Given the description of an element on the screen output the (x, y) to click on. 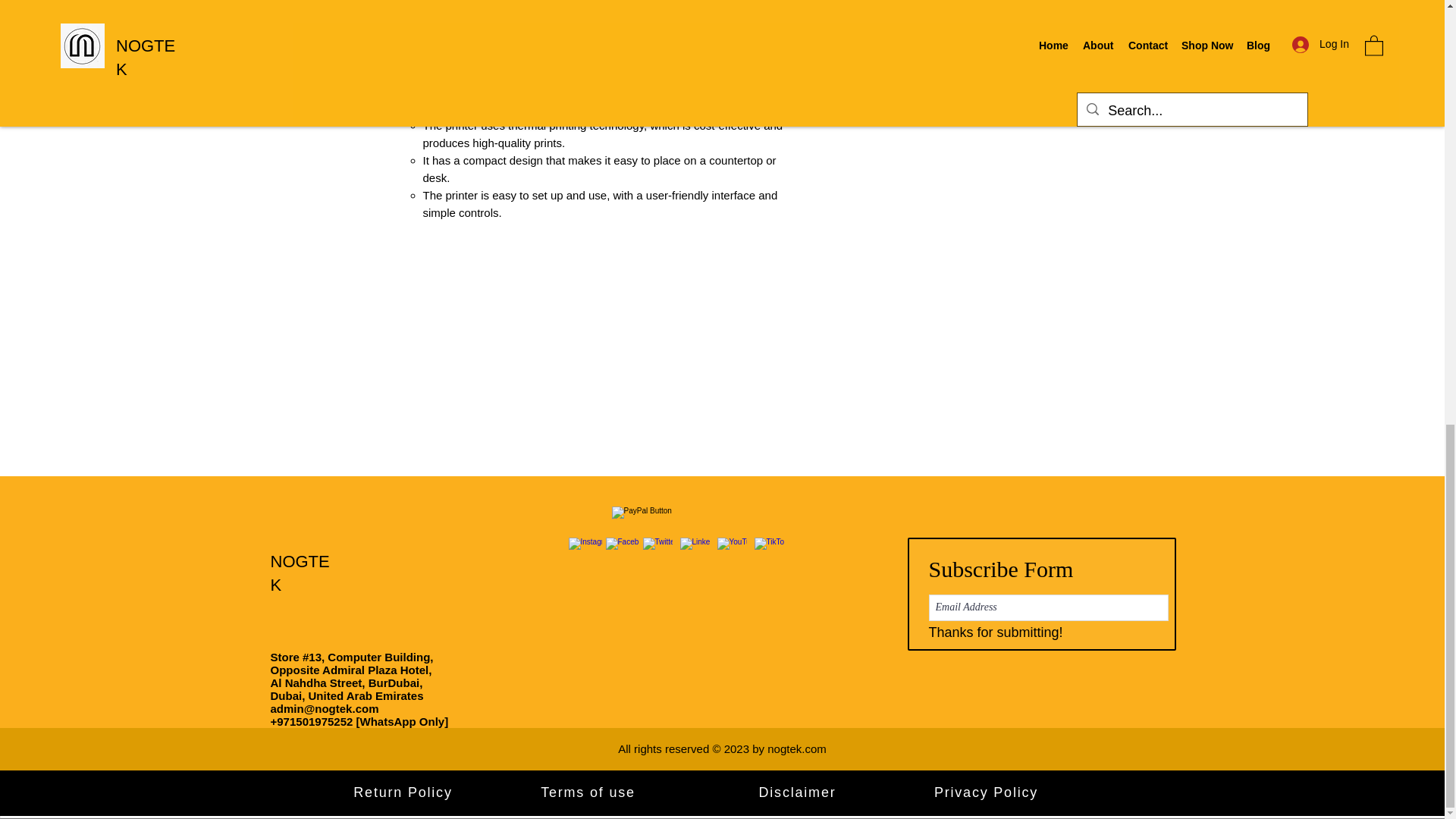
Terms of use (589, 792)
Add to Cart (959, 72)
Disclaimer (797, 792)
Privacy Policy (988, 792)
Return Policy (404, 792)
1 (893, 18)
